Given the description of an element on the screen output the (x, y) to click on. 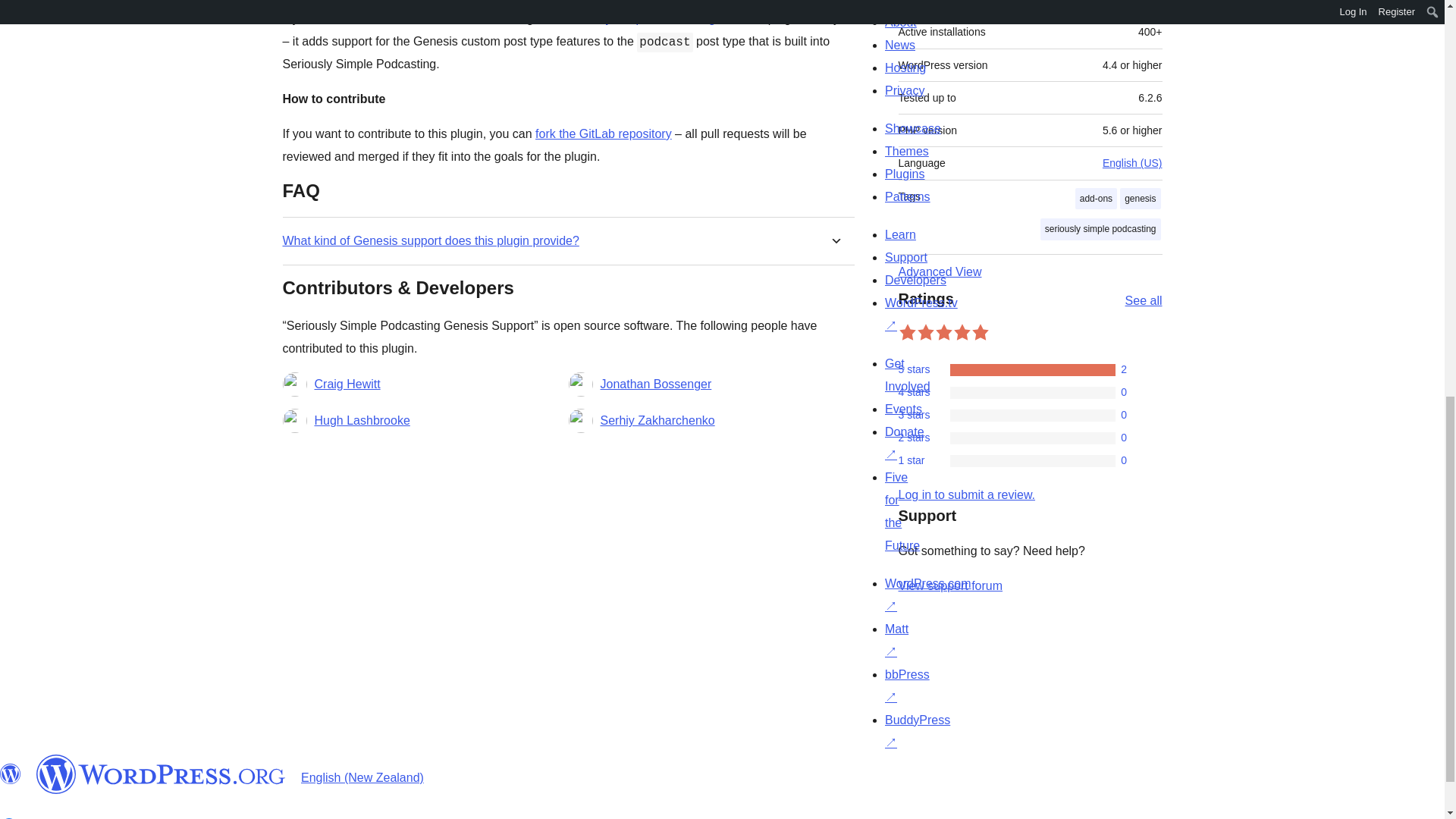
Log in to WordPress.org (966, 494)
WordPress.org (10, 773)
Seriously Simple Podcasting (639, 18)
Genesis theme framework (429, 18)
WordPress.org (160, 773)
fork the GitLab repository (603, 133)
Craig Hewitt (347, 384)
